Given the description of an element on the screen output the (x, y) to click on. 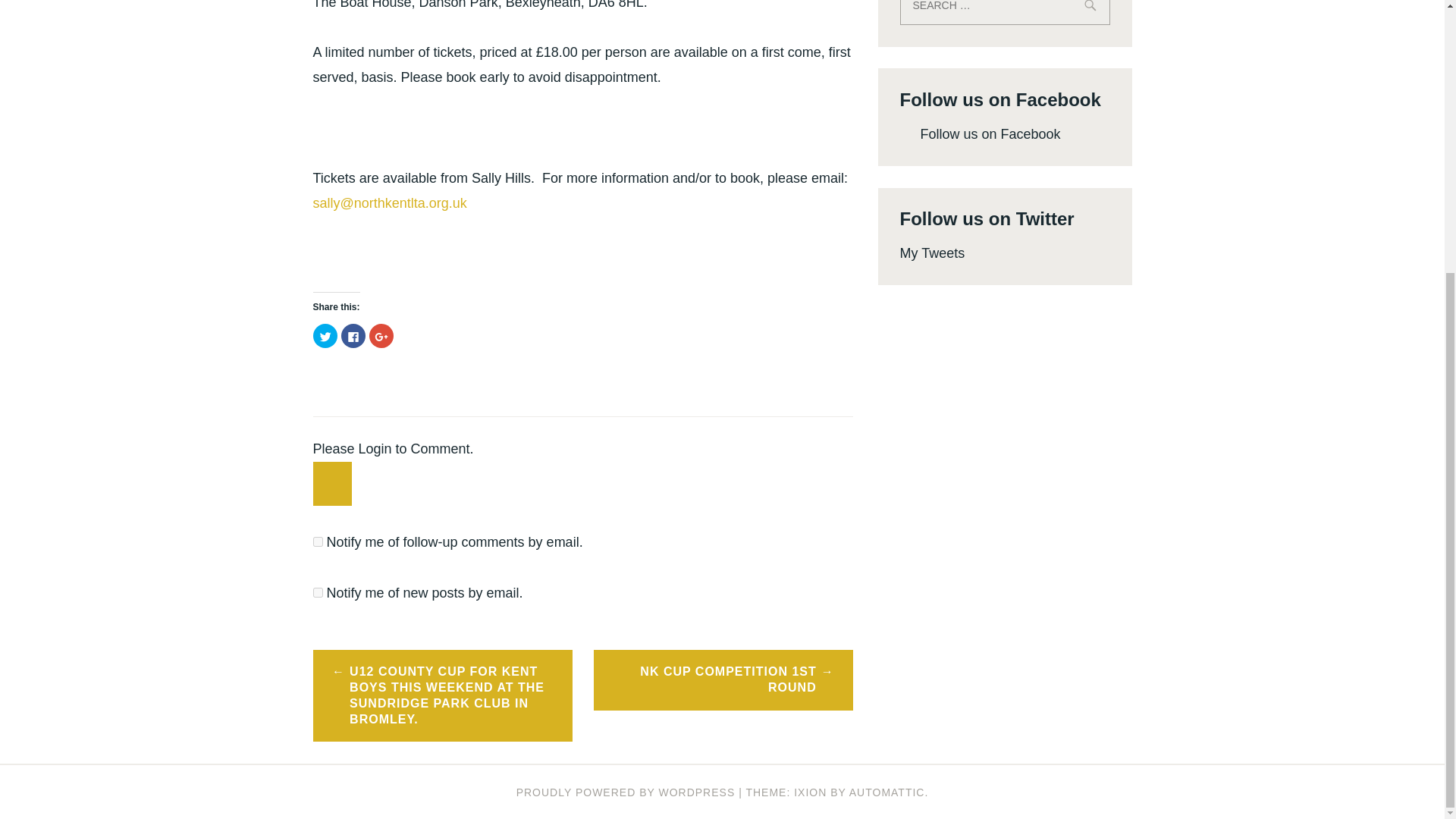
Click to share on Facebook (352, 335)
subscribe (317, 542)
Search for: (1004, 12)
subscribe (317, 592)
Click to share on Twitter (324, 335)
